Given the description of an element on the screen output the (x, y) to click on. 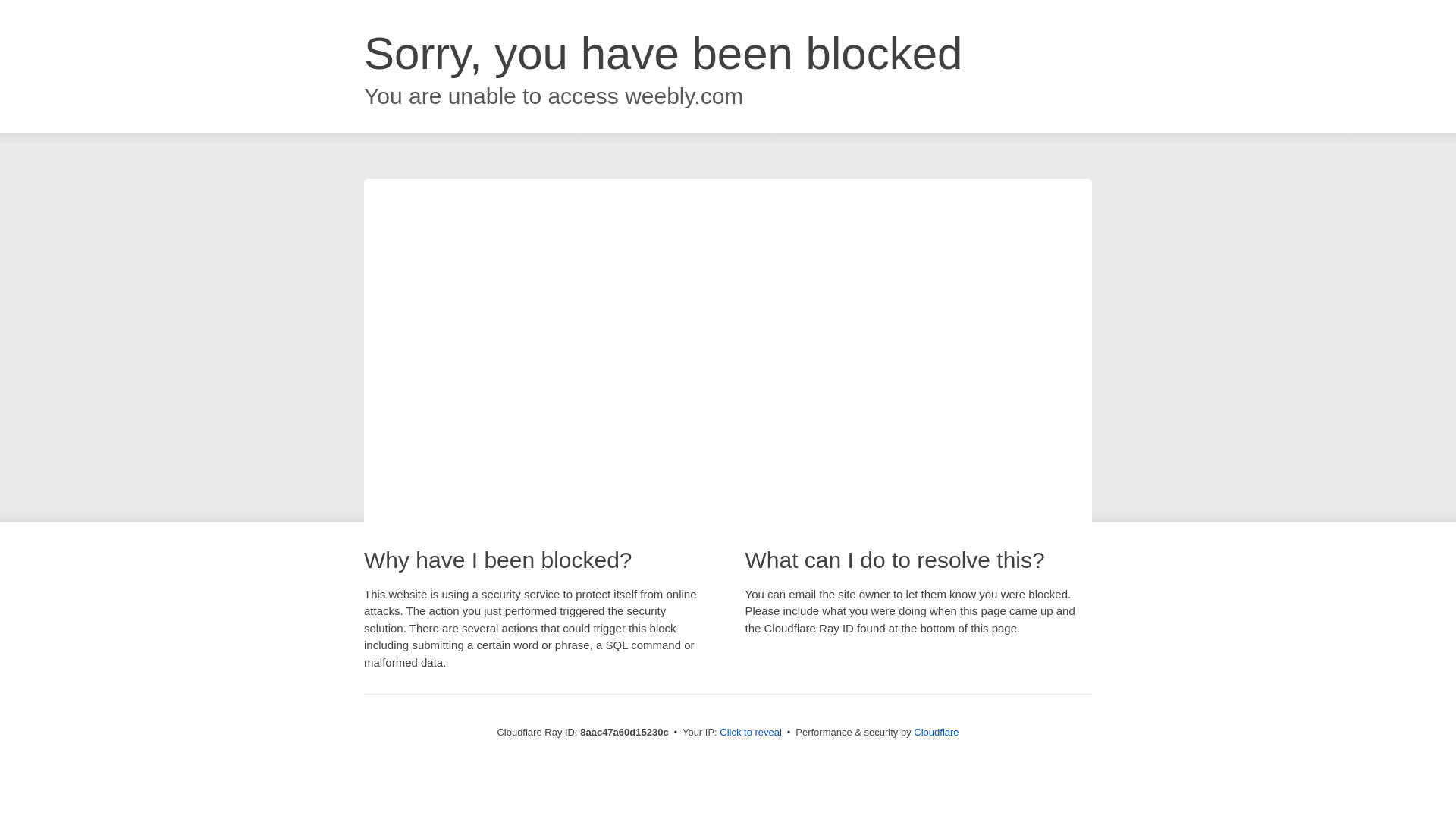
Cloudflare (936, 731)
Click to reveal (750, 732)
